Given the description of an element on the screen output the (x, y) to click on. 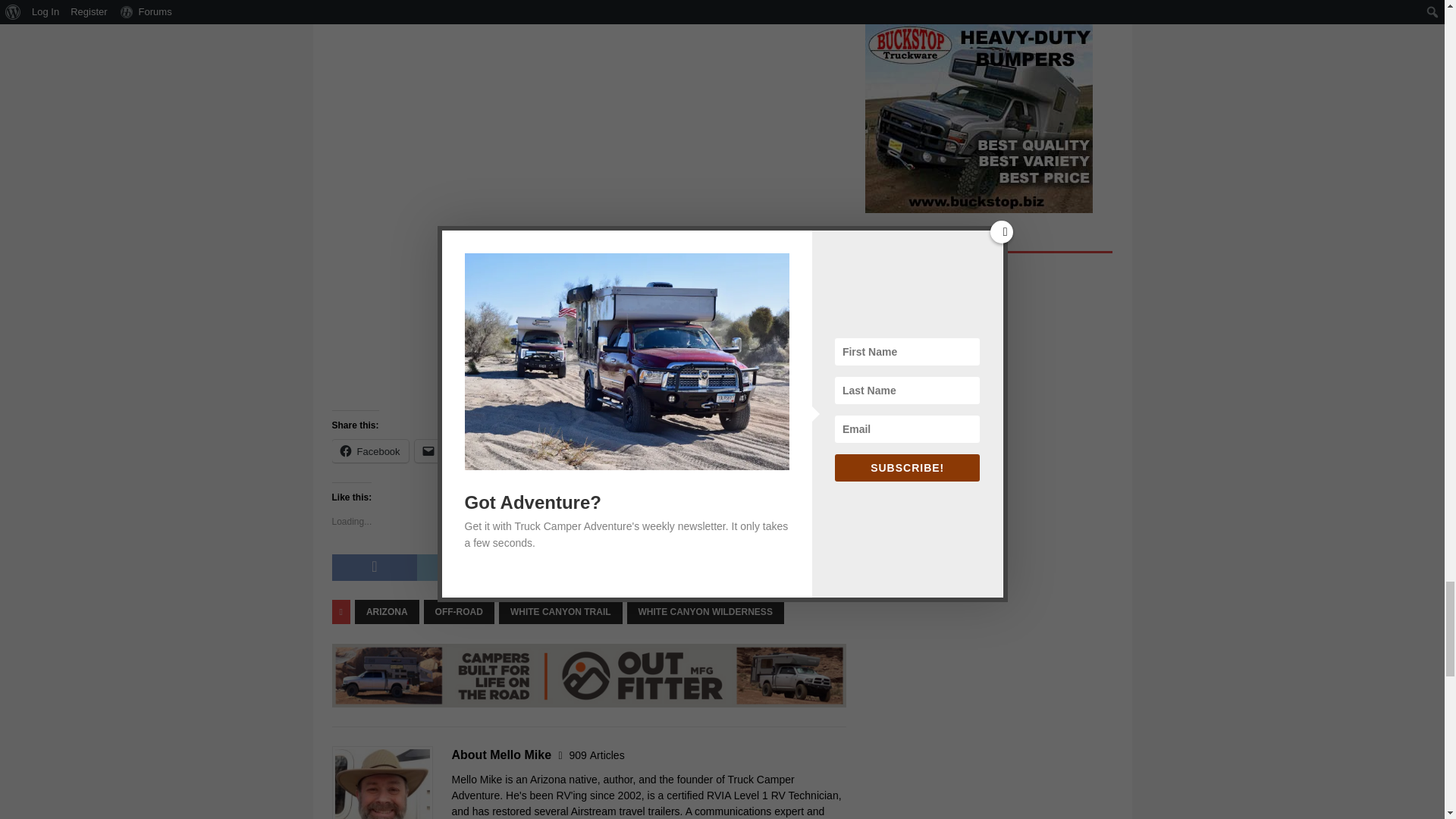
Click to share on X (498, 450)
Click to email a link to a friend (443, 450)
Click to share on Facebook (370, 450)
